Given the description of an element on the screen output the (x, y) to click on. 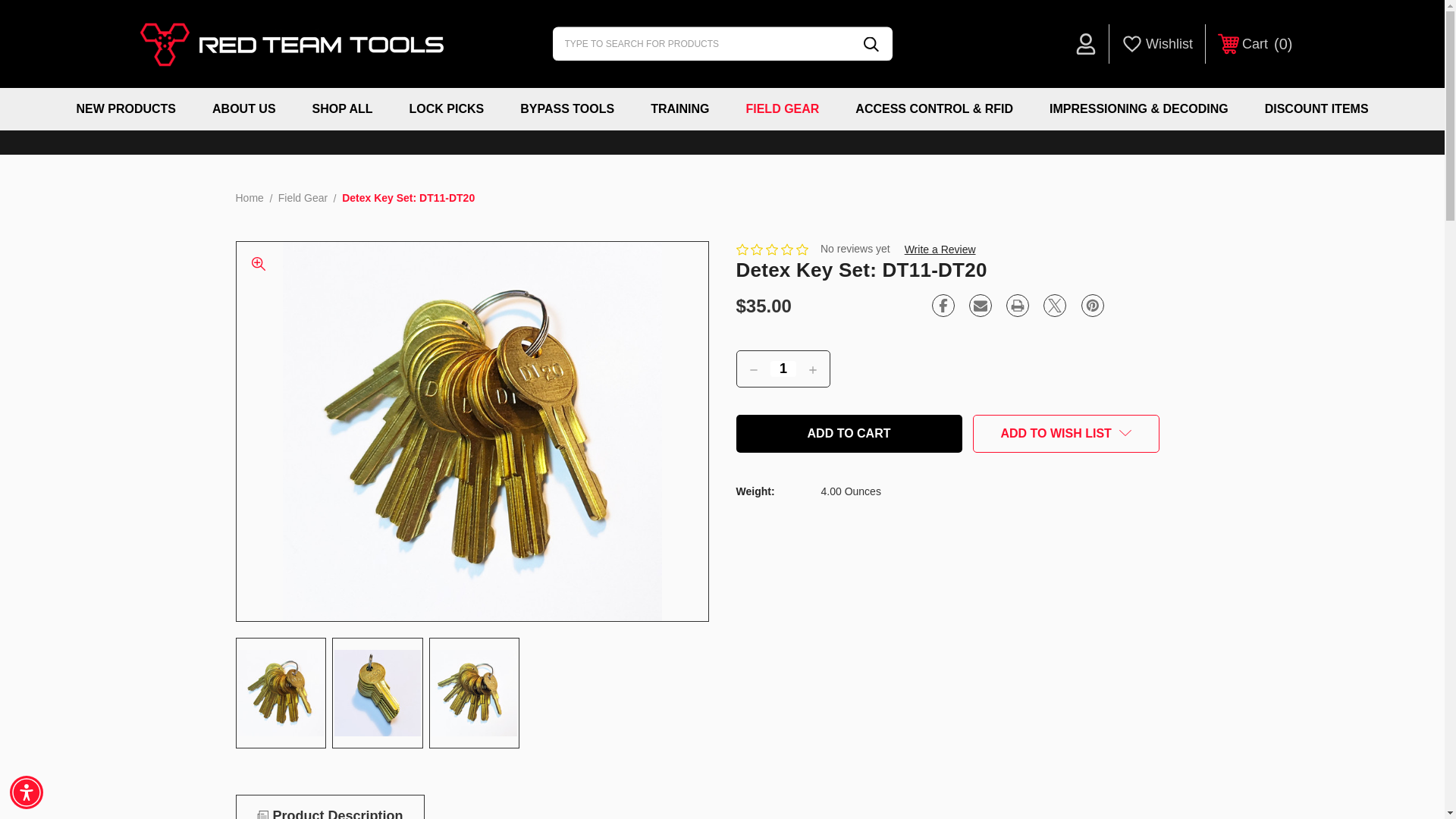
NEW PRODUCTS (125, 108)
Facebook (943, 305)
Detex Key Set: DT11-DT20 (1254, 43)
X (377, 692)
LOCK PICKS (1054, 305)
ABOUT US (446, 108)
TRAINING (243, 108)
Pinterest (678, 108)
Write a Review (1092, 305)
Account (939, 249)
Search (1085, 43)
DISCOUNT ITEMS (869, 44)
Email (1316, 108)
Detex Key Set: DT11-DT20 (980, 305)
